Given the description of an element on the screen output the (x, y) to click on. 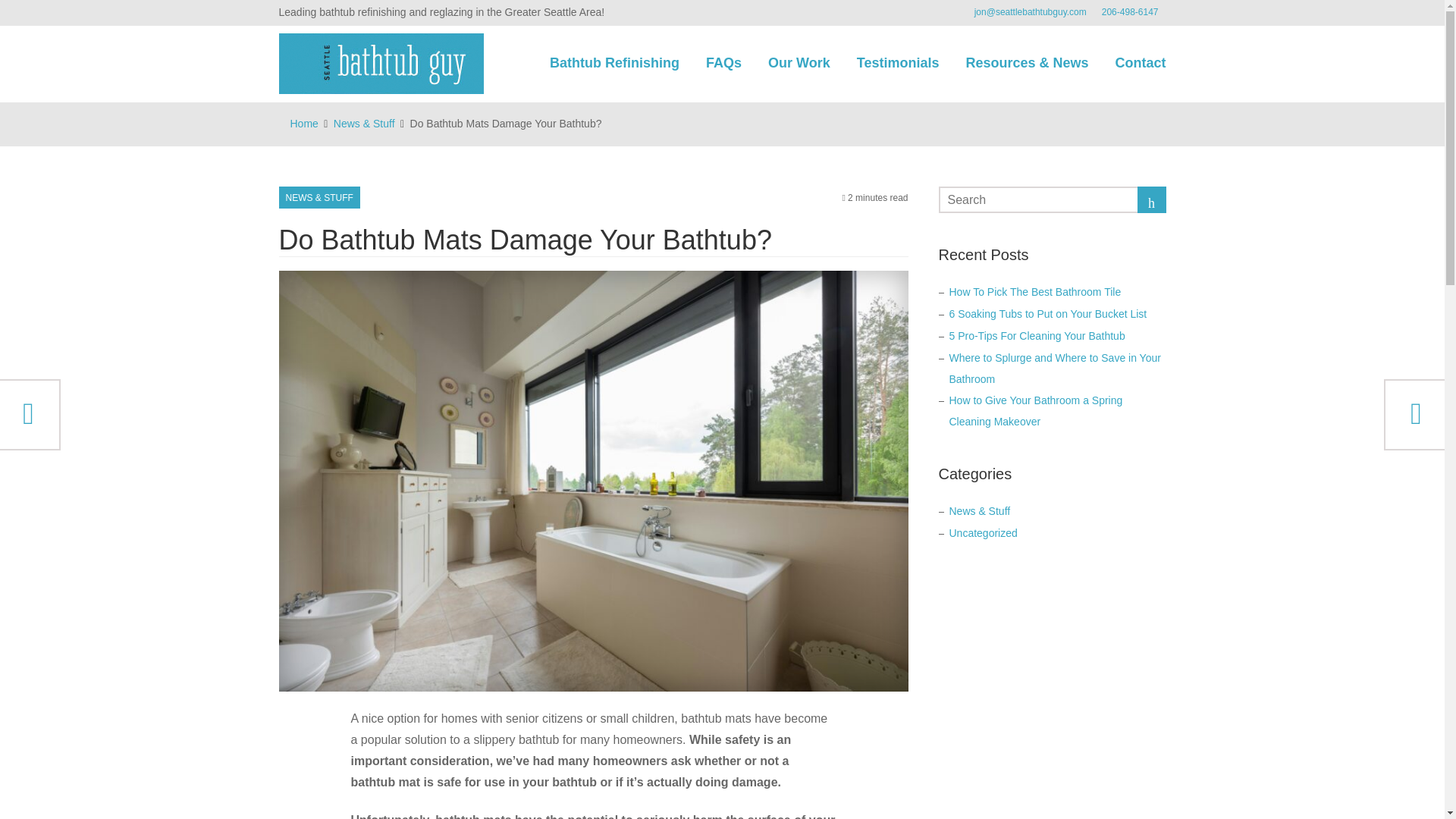
Testimonials (898, 63)
Contact (1140, 63)
FAQs (723, 63)
How to Give Your Bathroom a Spring Cleaning Makeover (1035, 410)
Our Work (798, 63)
Uncategorized (983, 532)
Home (303, 123)
Search (1151, 200)
Bathroom Remodels: When Should You Repair Your Bathtub? (30, 414)
Bathtub Refinishing (614, 63)
5 Pro-Tips For Cleaning Your Bathtub (1037, 336)
6 Soaking Tubs to Put on Your Bucket List (1048, 313)
Where to Splurge and Where to Save in Your Bathroom (1054, 368)
206-498-6147 (1130, 12)
How To Pick The Best Bathroom Tile (1035, 291)
